Given the description of an element on the screen output the (x, y) to click on. 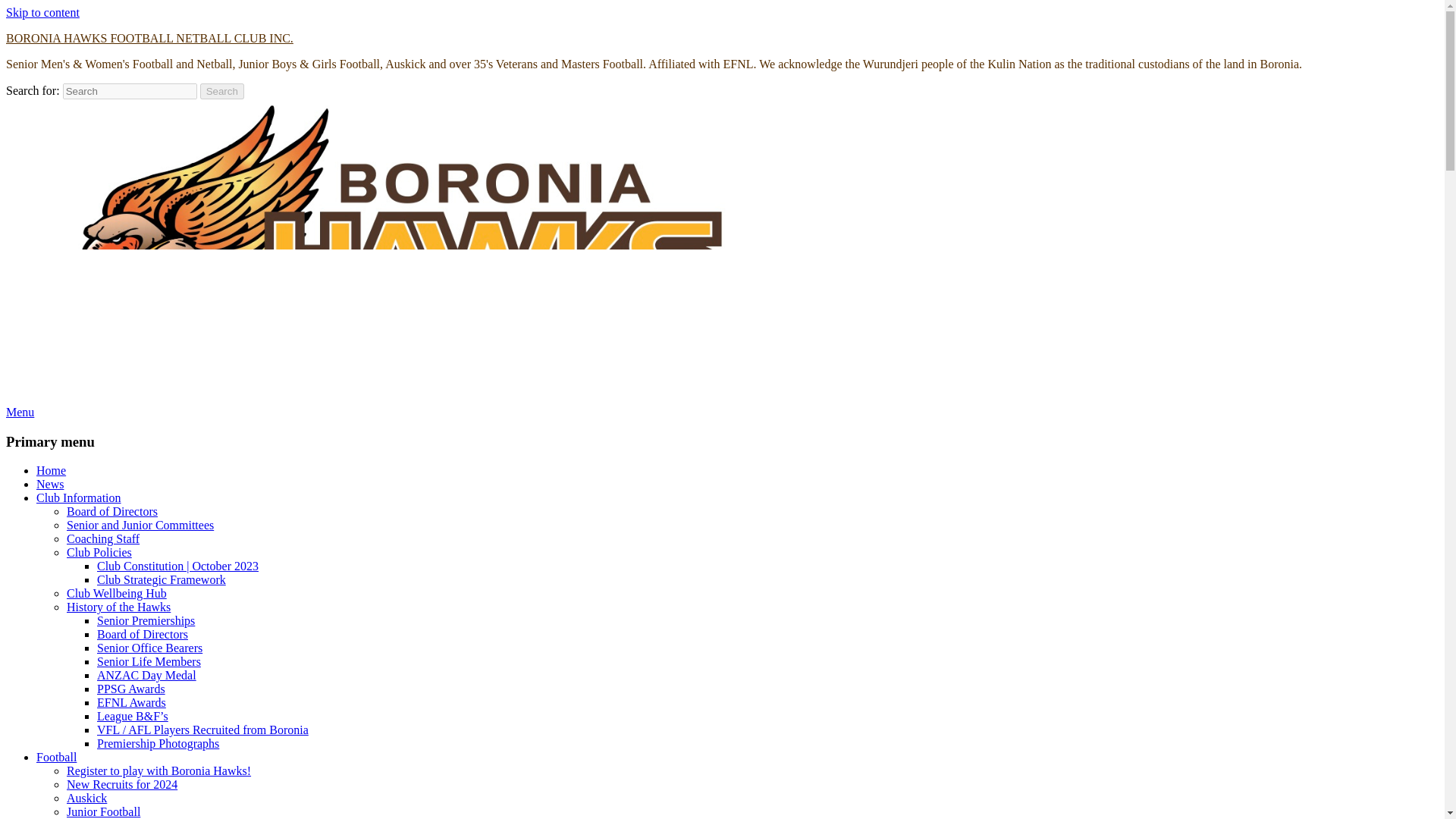
News (50, 483)
ANZAC Day Medal (146, 675)
Board of Directors (111, 511)
Club Policies (99, 552)
EFNL Awards (131, 702)
BORONIA HAWKS FOOTBALL NETBALL CLUB INC. (149, 38)
Search (222, 91)
Football (56, 757)
Senior Office Bearers (149, 647)
Menu (19, 411)
